Given the description of an element on the screen output the (x, y) to click on. 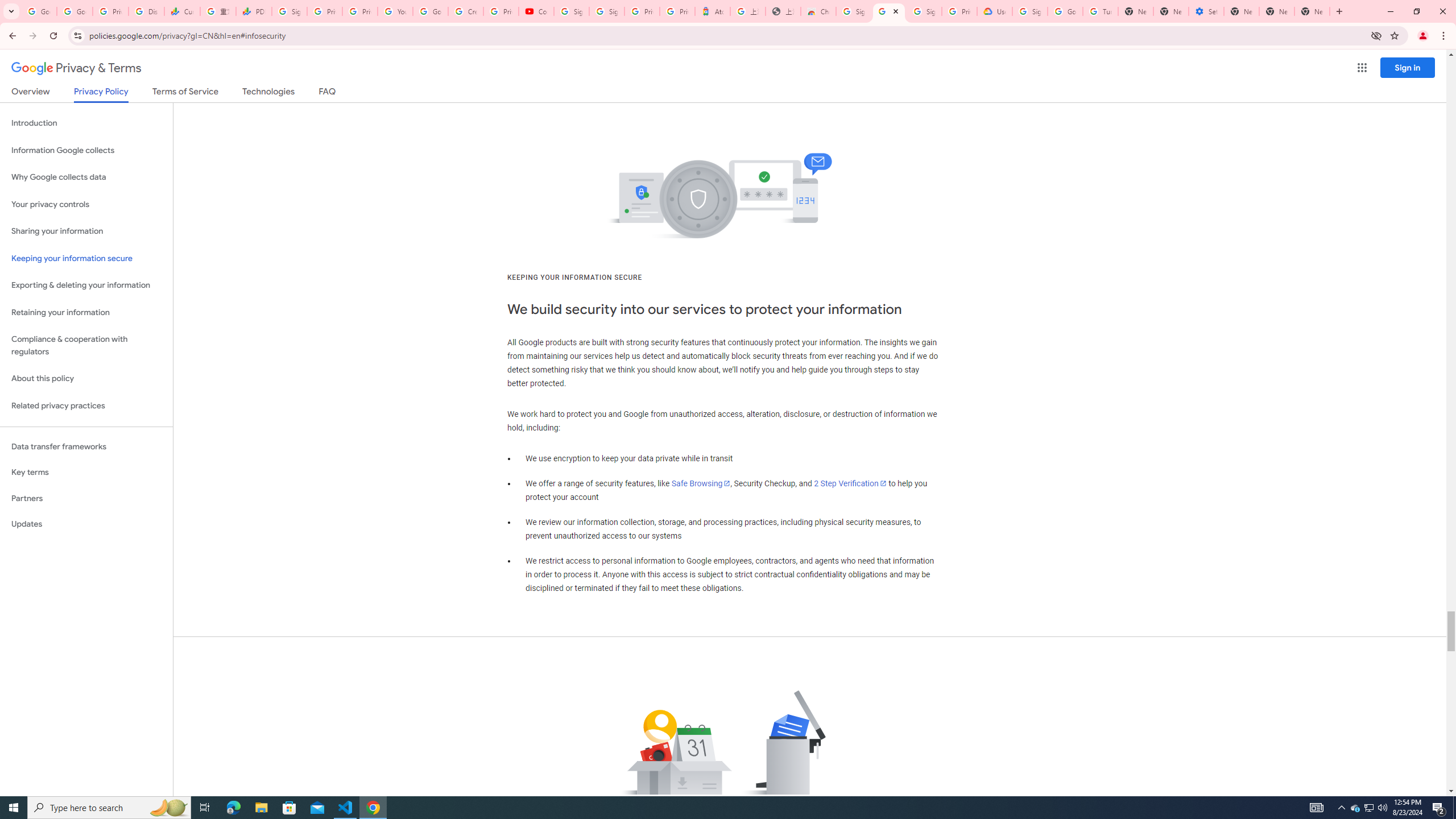
Sign in - Google Accounts (288, 11)
New Tab (1135, 11)
About this policy (86, 379)
Create your Google Account (465, 11)
Chrome Web Store - Color themes by Chrome (817, 11)
Data transfer frameworks (86, 446)
Currencies - Google Finance (181, 11)
